Given the description of an element on the screen output the (x, y) to click on. 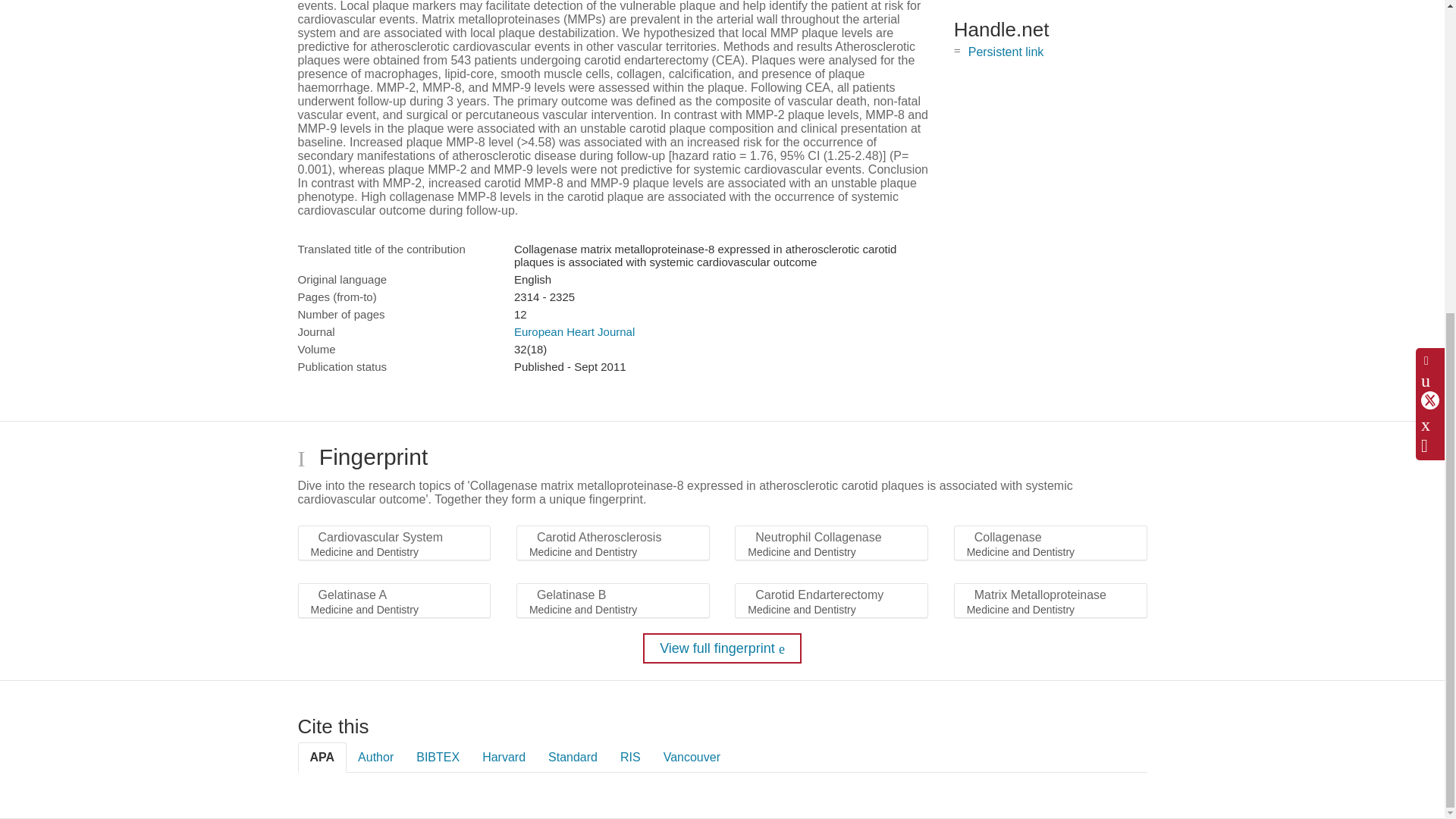
European Heart Journal (573, 331)
Persistent link (1005, 51)
View full fingerprint (722, 648)
